Given the description of an element on the screen output the (x, y) to click on. 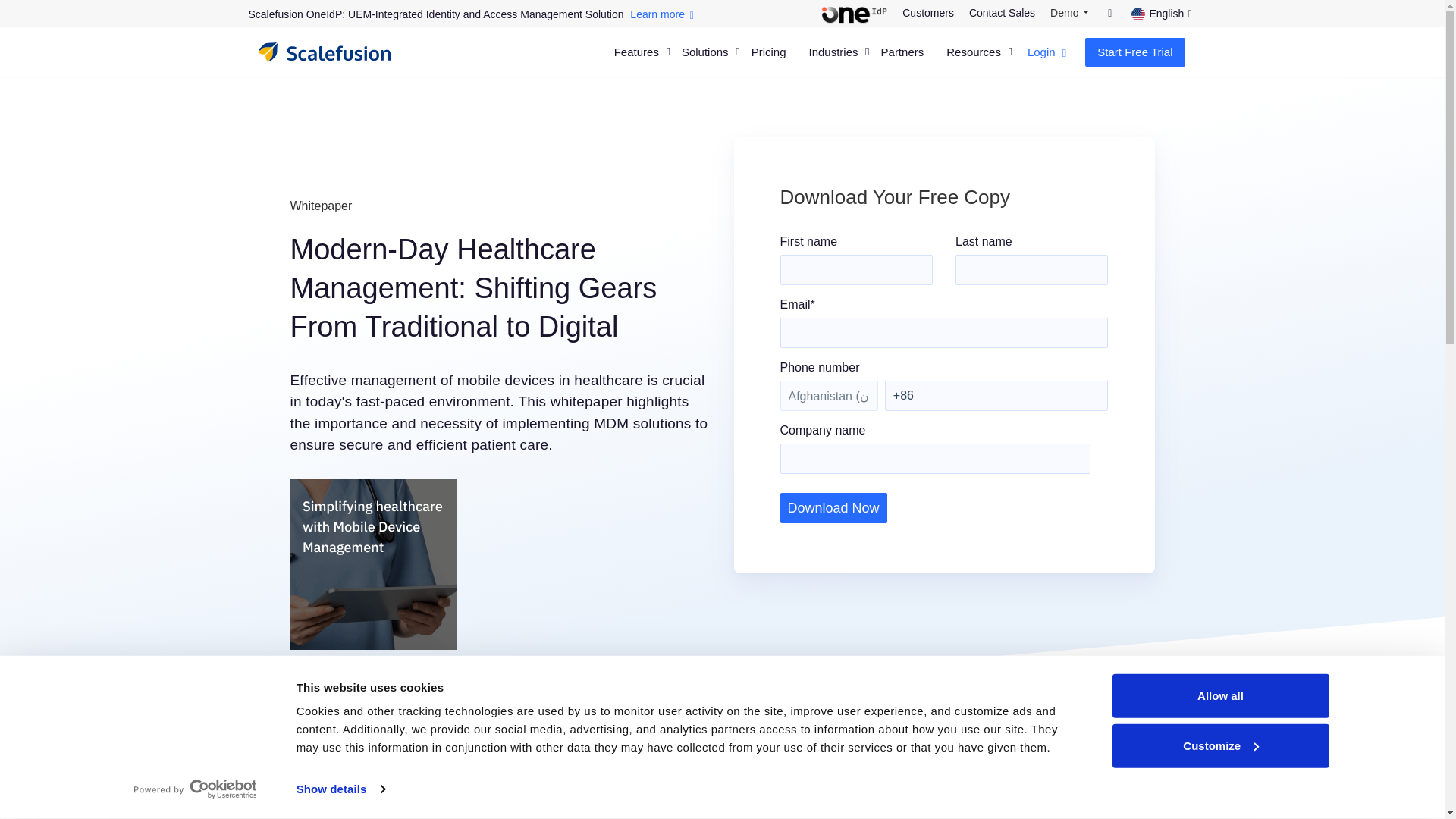
Show details (340, 789)
Download Now (832, 508)
